Given the description of an element on the screen output the (x, y) to click on. 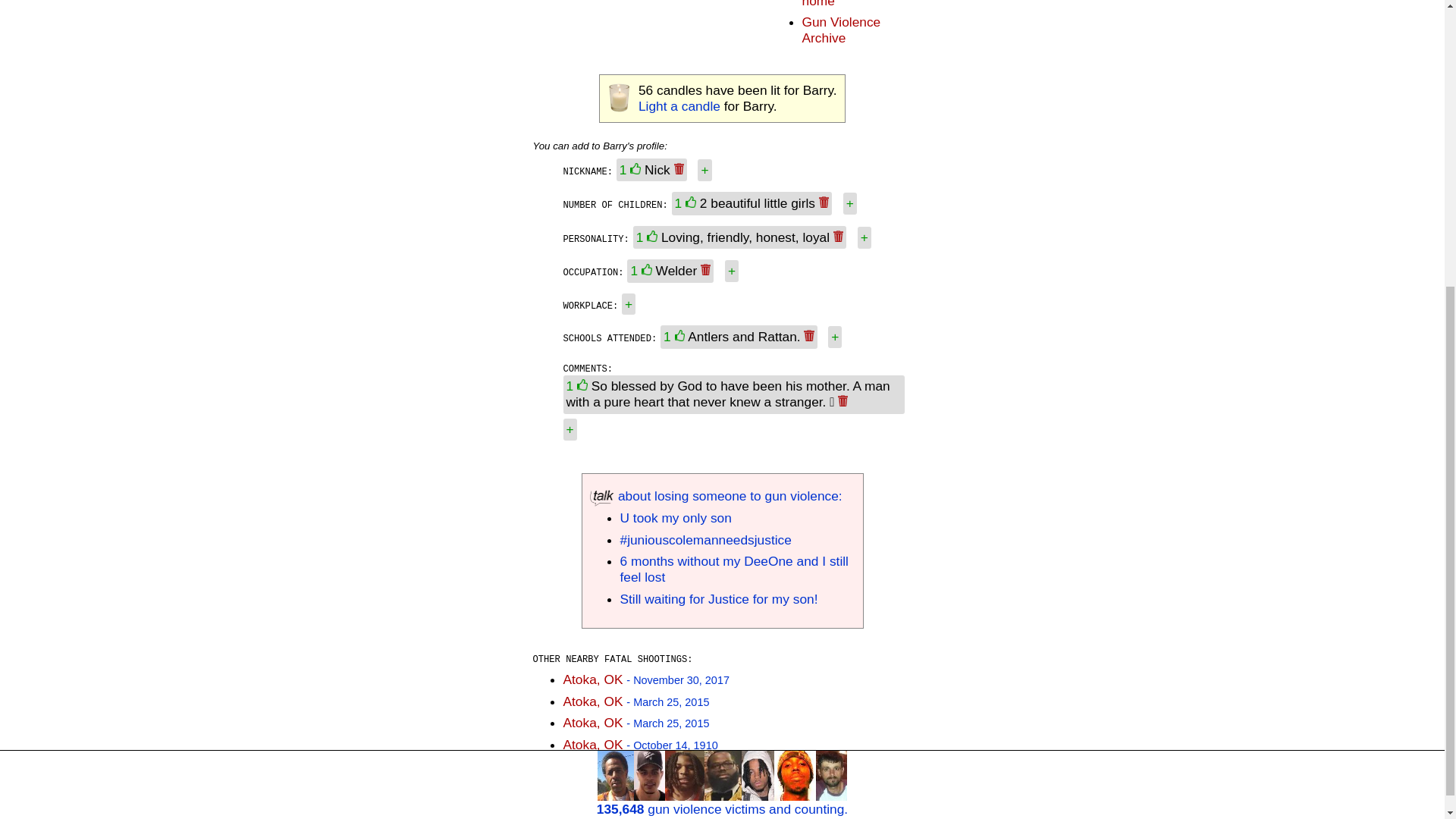
Still waiting for Justice for my son! (719, 598)
U took my only son (676, 517)
1 (687, 202)
Atoka, OK - November 30, 2017 (645, 679)
about losing someone to gun violence: (716, 495)
1 (648, 237)
Atoka, OK - March 25, 2015 (635, 722)
Light a candle (679, 105)
1 (578, 385)
6 months without my DeeOne and I still feel lost (734, 568)
1 (642, 270)
Gun Violence Archive (841, 29)
Atoka, OK - October 14, 1910 (639, 744)
Atoka, OK - March 25, 2015 (635, 701)
